Given the description of an element on the screen output the (x, y) to click on. 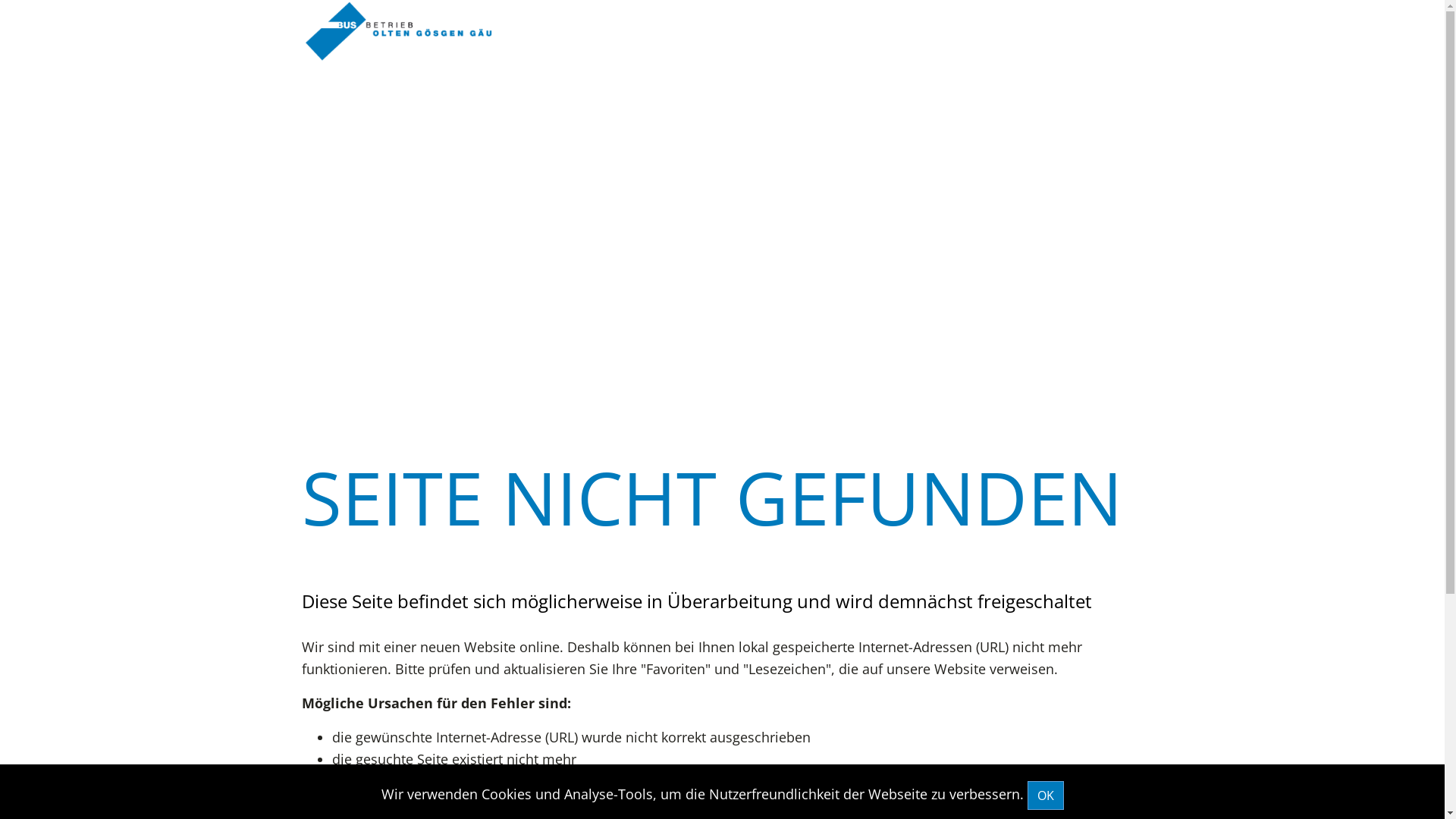
OK Element type: text (1044, 795)
